Given the description of an element on the screen output the (x, y) to click on. 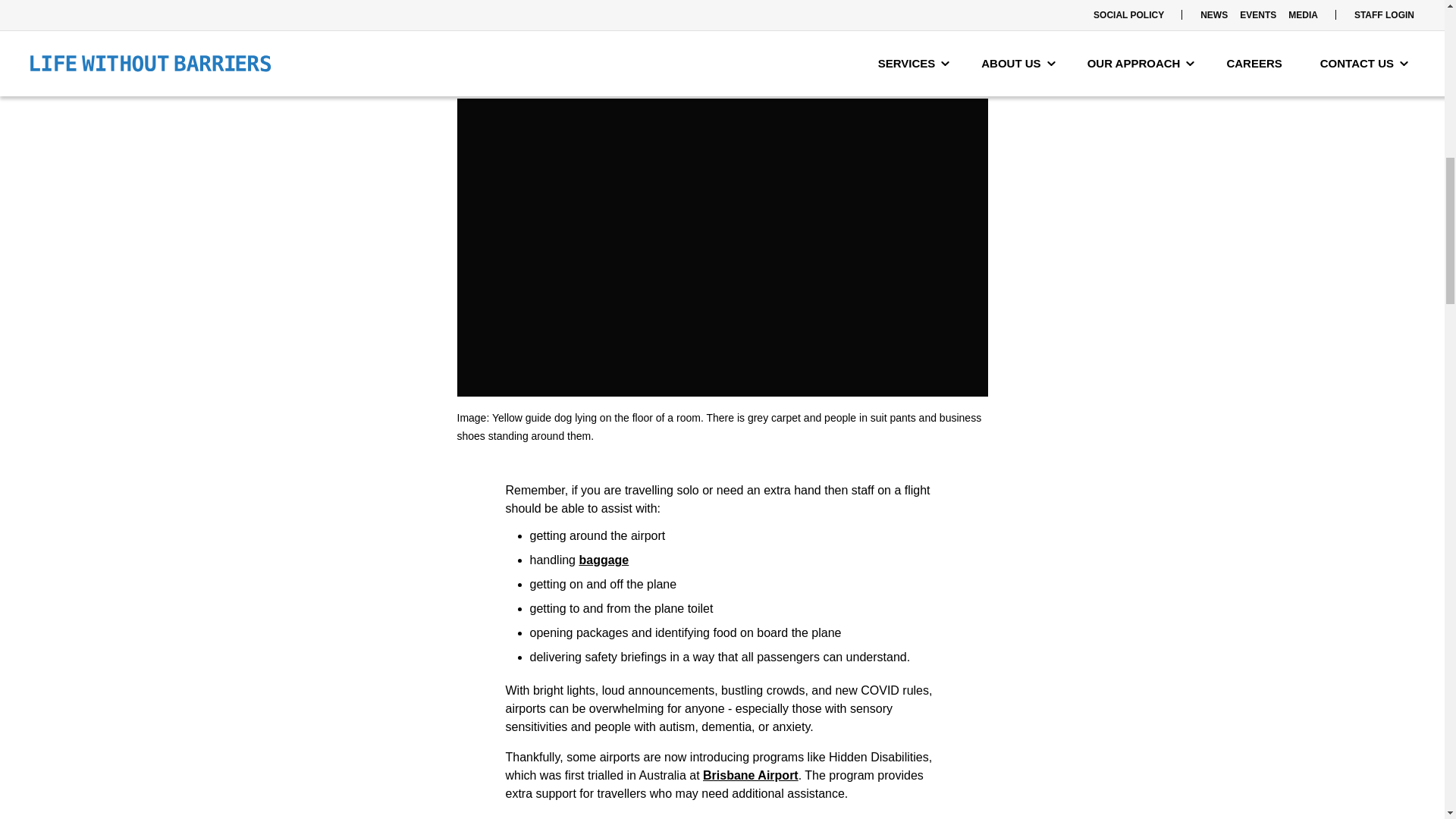
Brisbane Airport (750, 775)
travelling with guide dogs here! (682, 51)
baggage (603, 559)
